Given the description of an element on the screen output the (x, y) to click on. 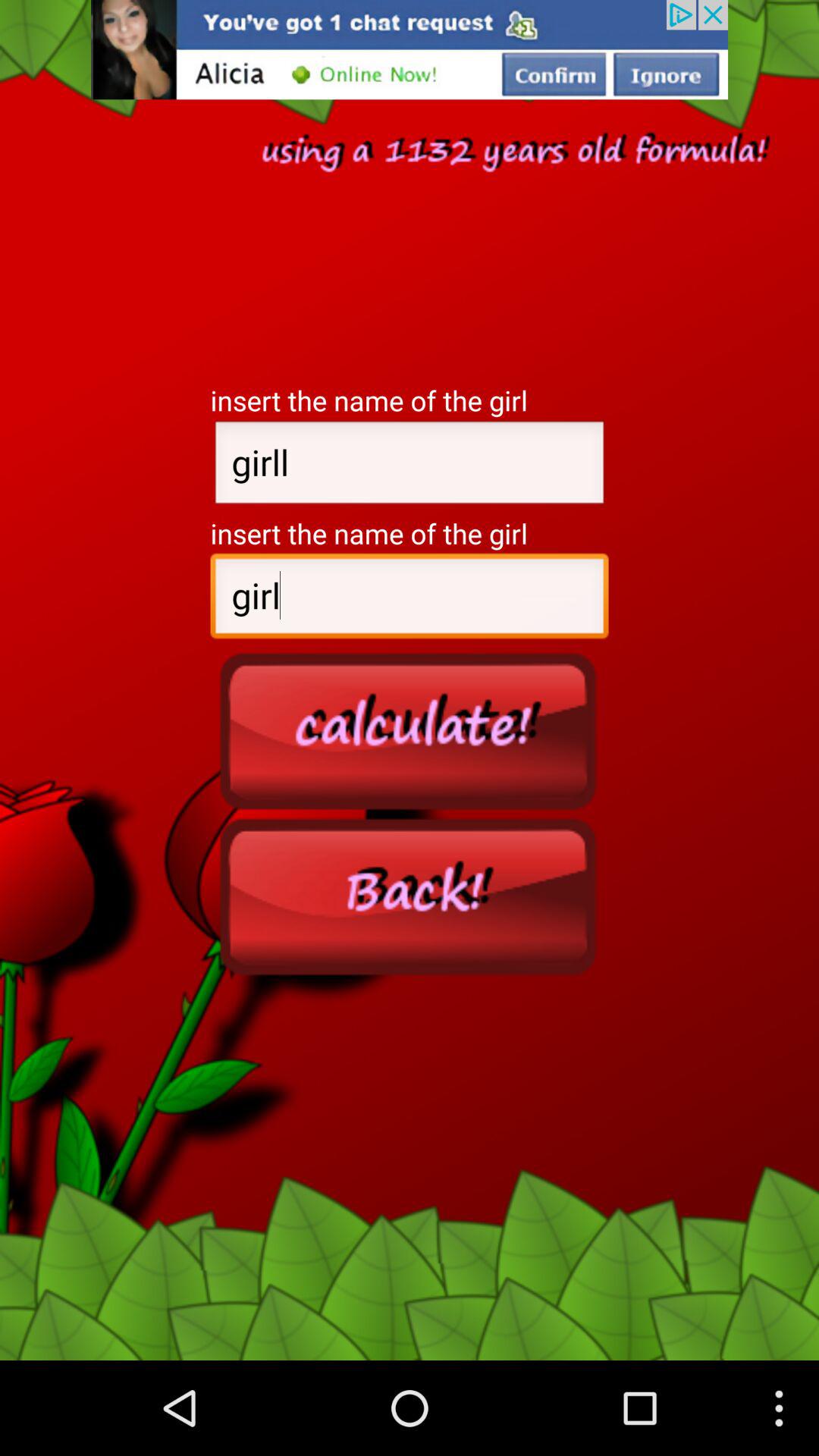
back button (409, 895)
